Given the description of an element on the screen output the (x, y) to click on. 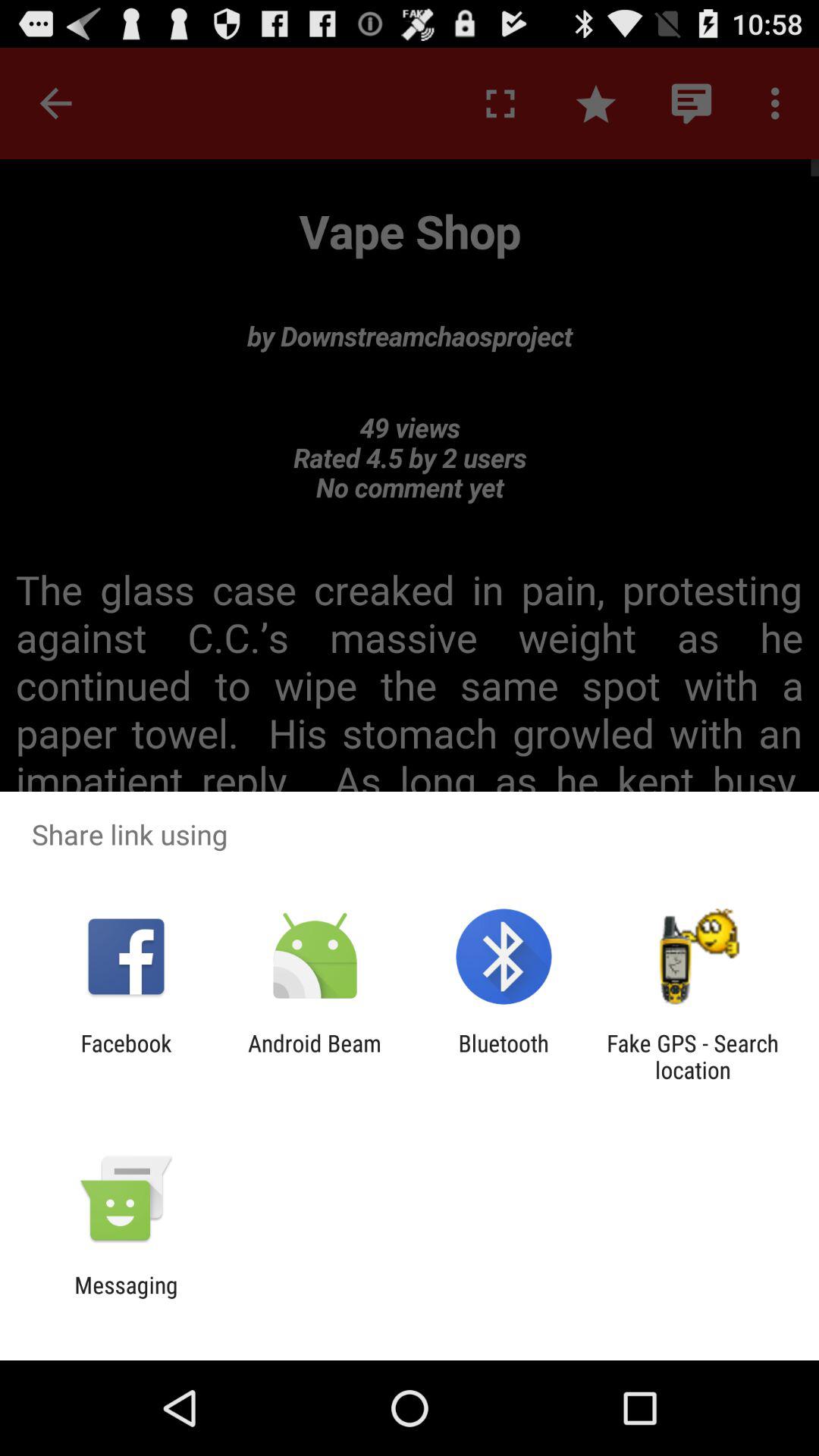
swipe to the bluetooth item (503, 1056)
